Given the description of an element on the screen output the (x, y) to click on. 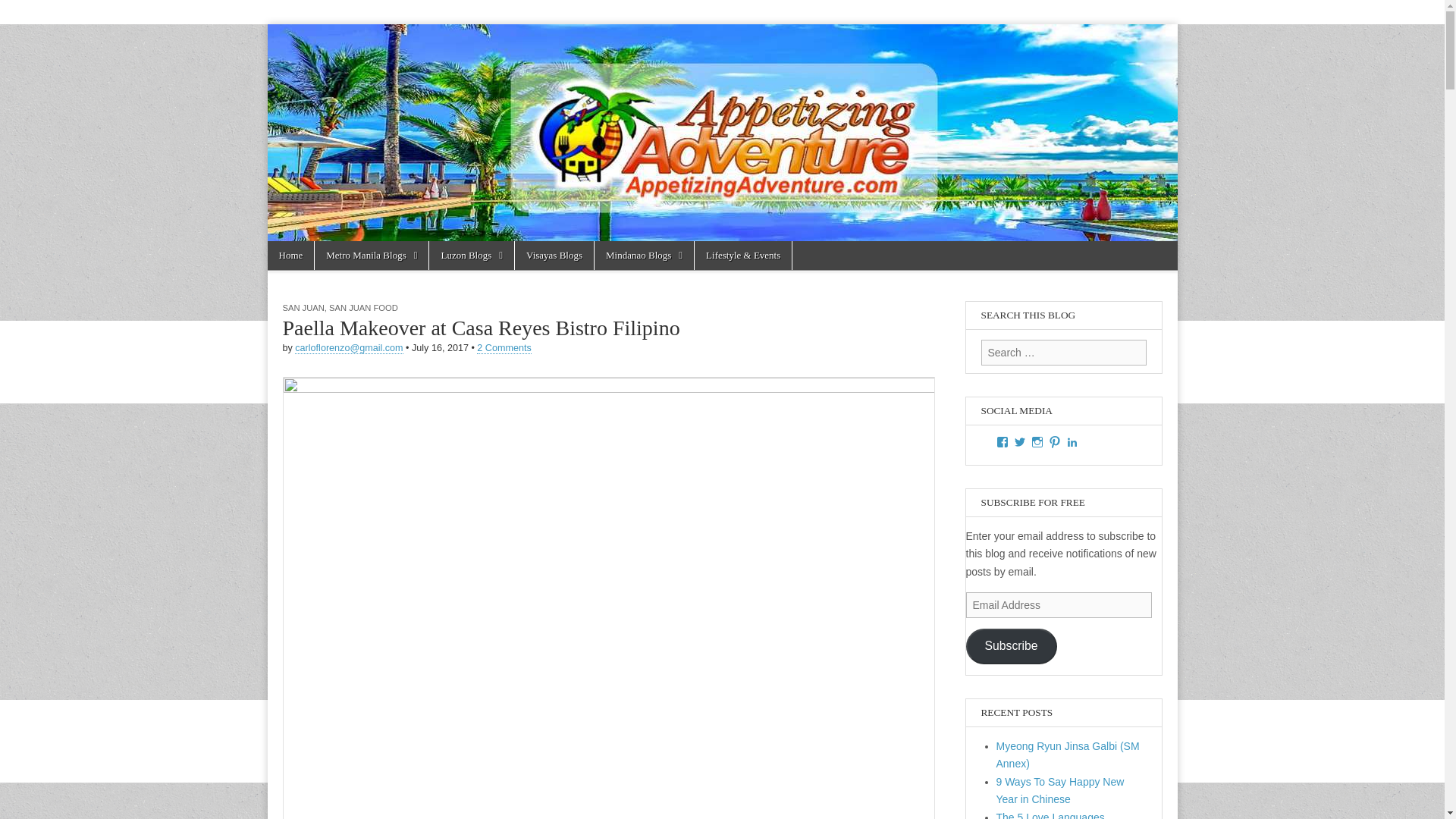
SAN JUAN (302, 307)
Appetizing Adventure (363, 82)
Visayas Blogs (554, 255)
Appetizing Adventure (363, 82)
Luzon Blogs (471, 255)
Mindanao Blogs (644, 255)
Metro Manila Blogs (371, 255)
SAN JUAN FOOD (363, 307)
